Given the description of an element on the screen output the (x, y) to click on. 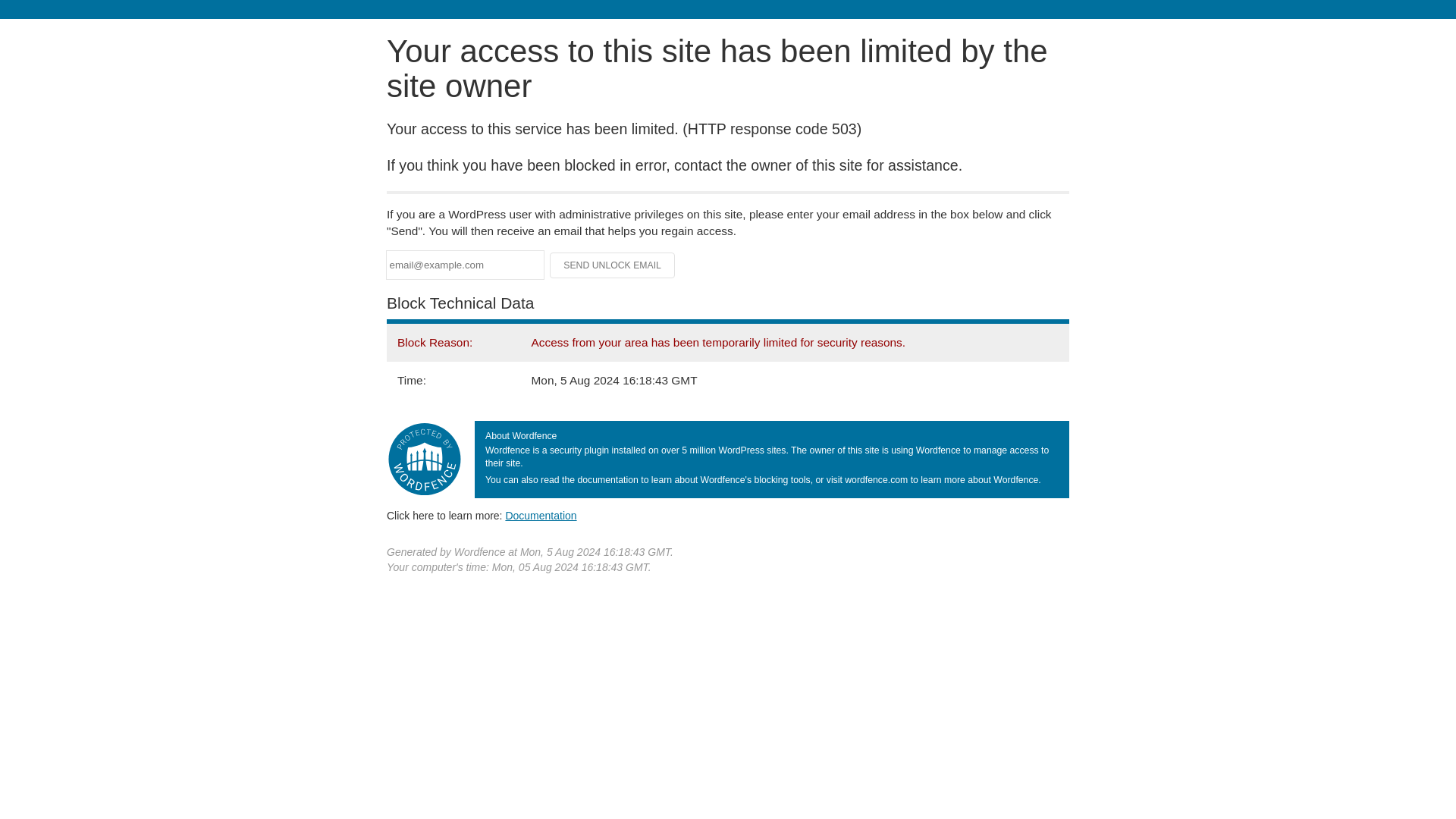
Send Unlock Email (612, 265)
Documentation (540, 515)
Send Unlock Email (612, 265)
